Given the description of an element on the screen output the (x, y) to click on. 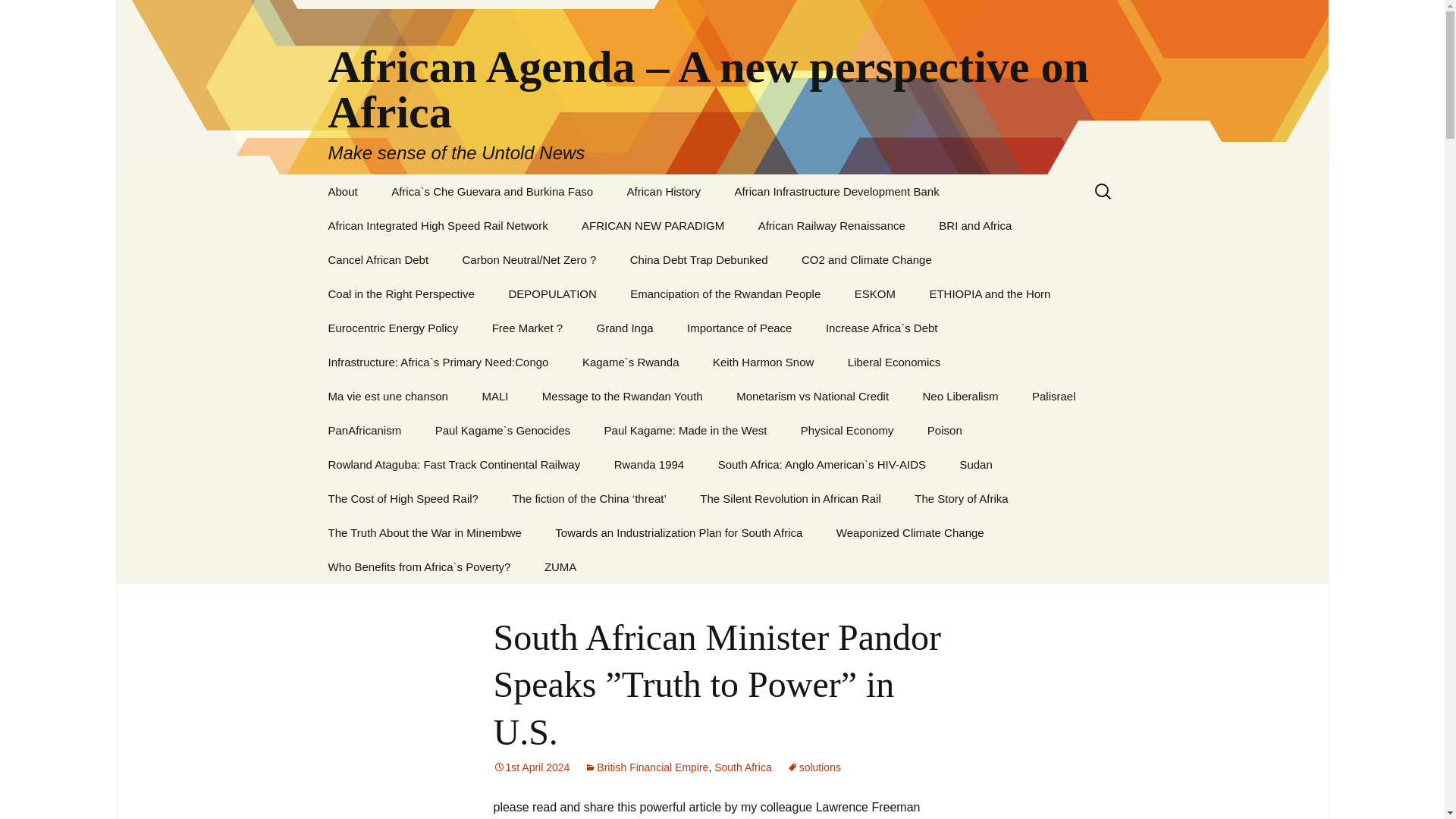
Palisrael (1053, 396)
MALI (493, 396)
BRI and Africa (974, 225)
African History (663, 191)
China Debt Trap Debunked (698, 259)
Neo Liberalism (960, 396)
Cancel African Debt (378, 259)
Keith Harmon Snow (762, 361)
Emancipation of the Rwandan People (724, 293)
Liberal Economics (894, 361)
DEPOPULATION (552, 293)
Coal in the Right Perspective (401, 293)
African Railway Renaissance (831, 225)
About (342, 191)
